Given the description of an element on the screen output the (x, y) to click on. 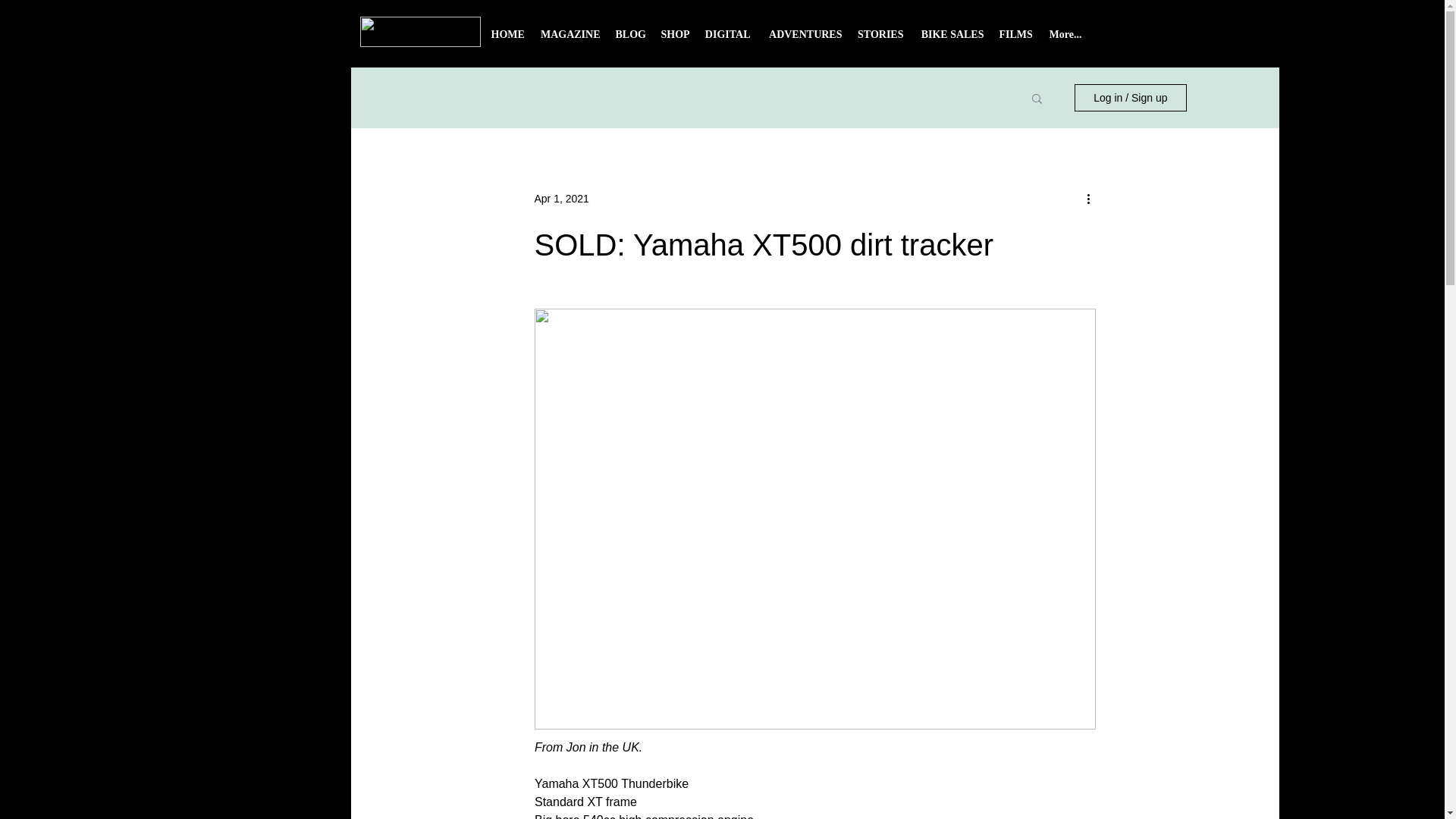
HOME (507, 39)
ADVENTURES (804, 39)
FILMS (1016, 39)
BIKE SALES (951, 39)
BLOG (630, 39)
DIGITAL (727, 39)
Apr 1, 2021 (561, 198)
STORIES (879, 39)
